Given the description of an element on the screen output the (x, y) to click on. 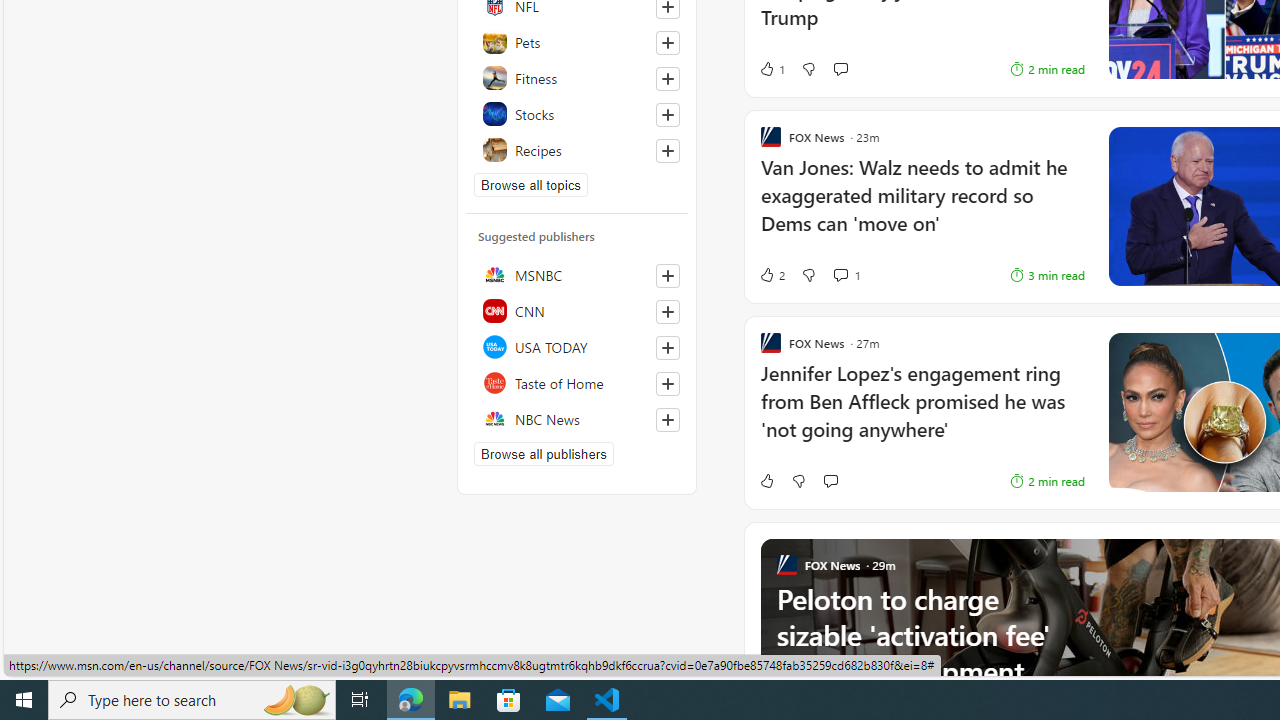
Pets (577, 42)
Fitness (577, 78)
NBC News (577, 418)
2 Like (771, 274)
Follow this source (667, 419)
MSNBC (577, 274)
Recipes (577, 150)
Stocks (577, 114)
